Given the description of an element on the screen output the (x, y) to click on. 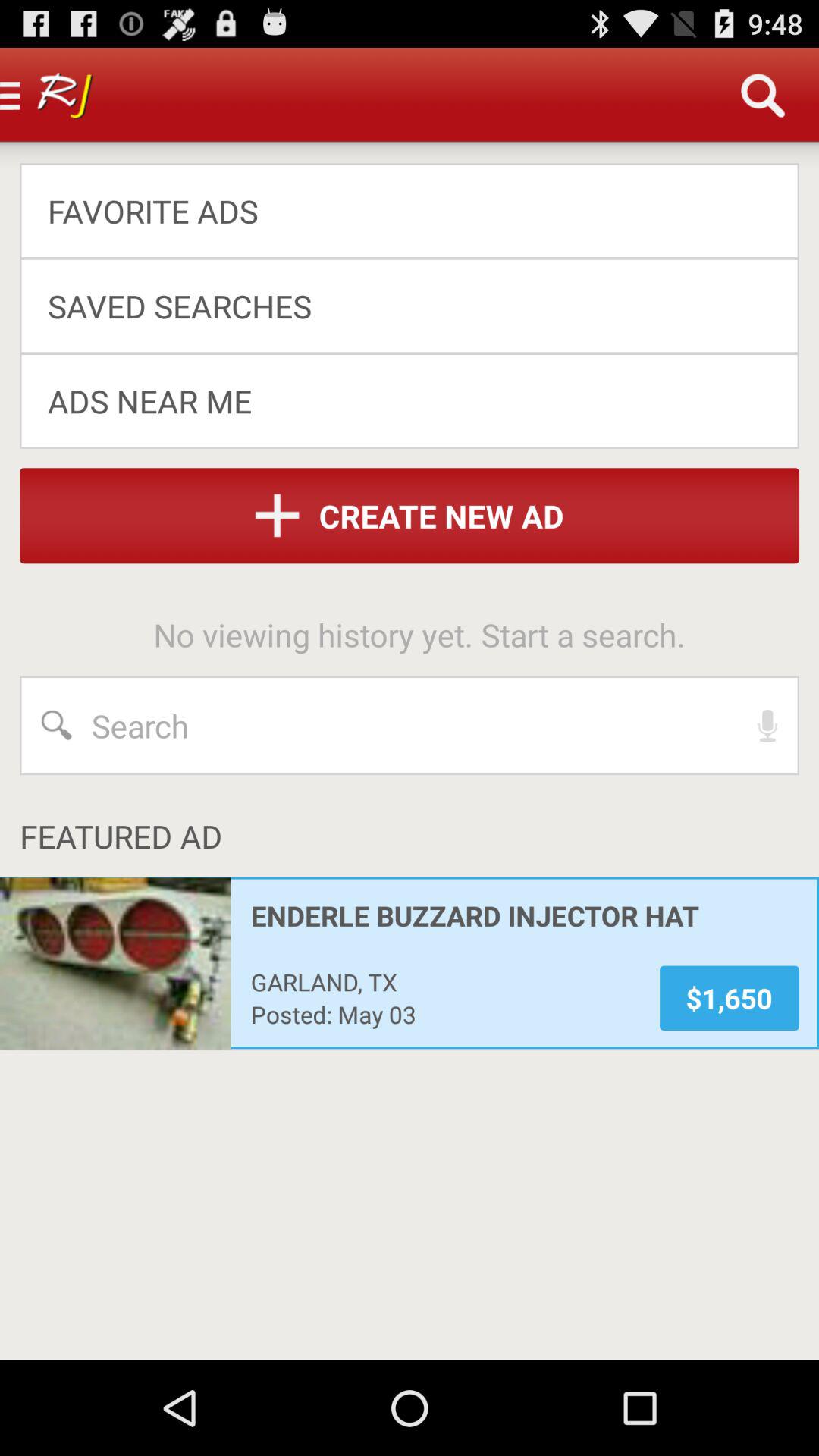
tap the item above the featured ad icon (767, 725)
